Given the description of an element on the screen output the (x, y) to click on. 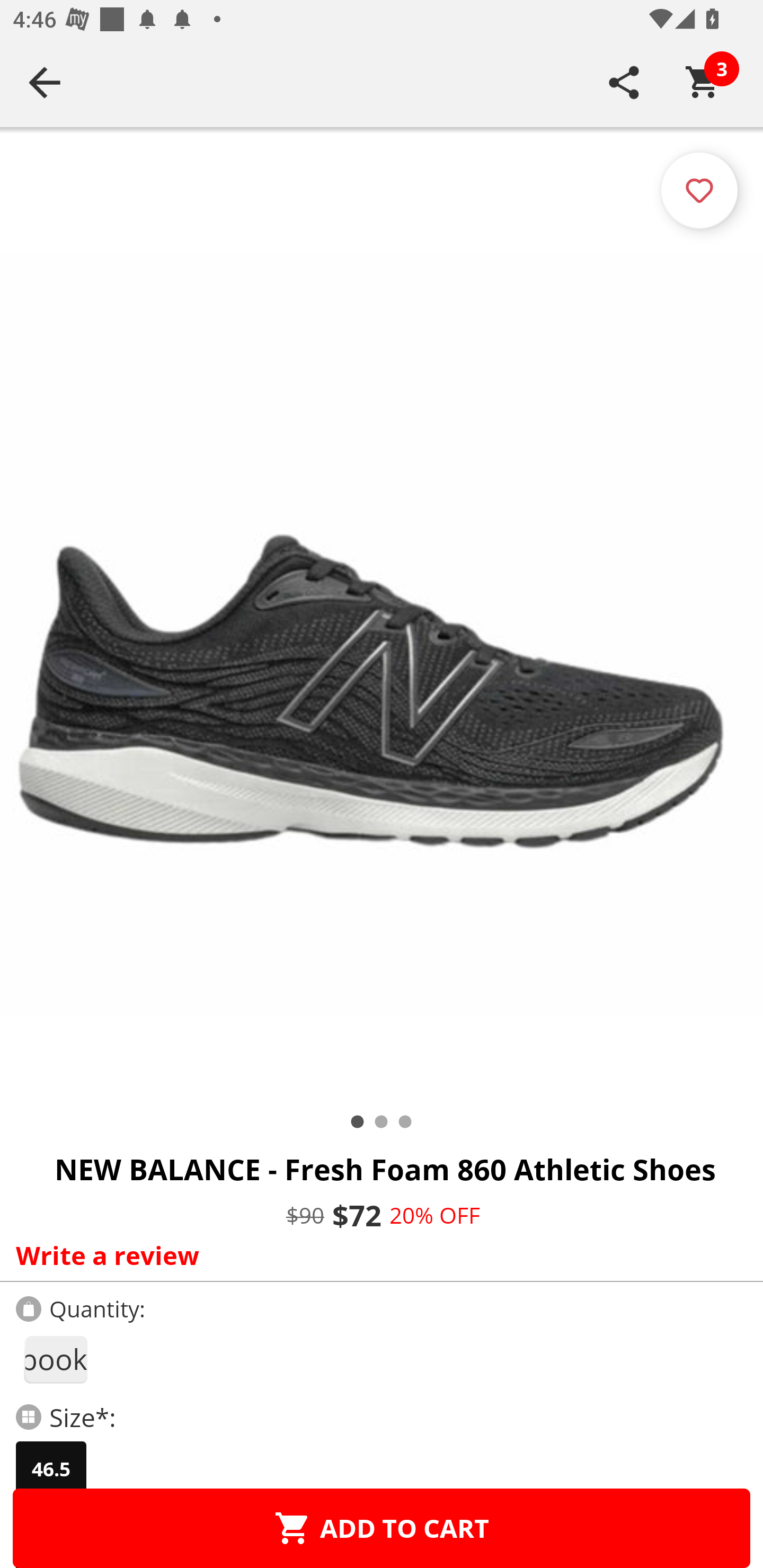
Navigate up (44, 82)
SHARE (623, 82)
Cart (703, 81)
Write a review (377, 1255)
1notebook (55, 1358)
46.5 (51, 1468)
ADD TO CART (381, 1528)
